Given the description of an element on the screen output the (x, y) to click on. 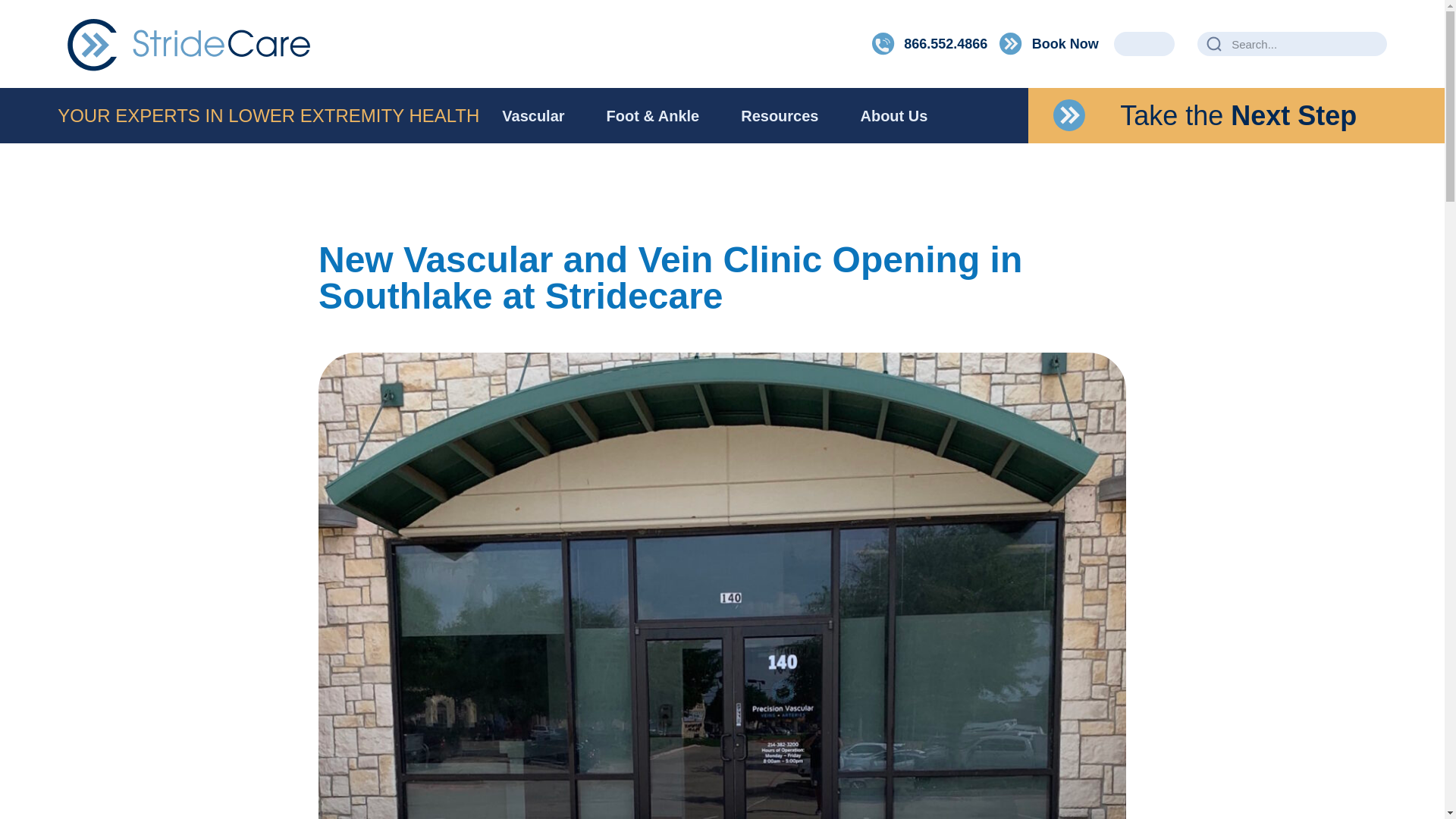
About Us (893, 115)
866.552.4866 (930, 43)
Resources (779, 115)
Vascular (533, 115)
Book Now (1048, 43)
